Given the description of an element on the screen output the (x, y) to click on. 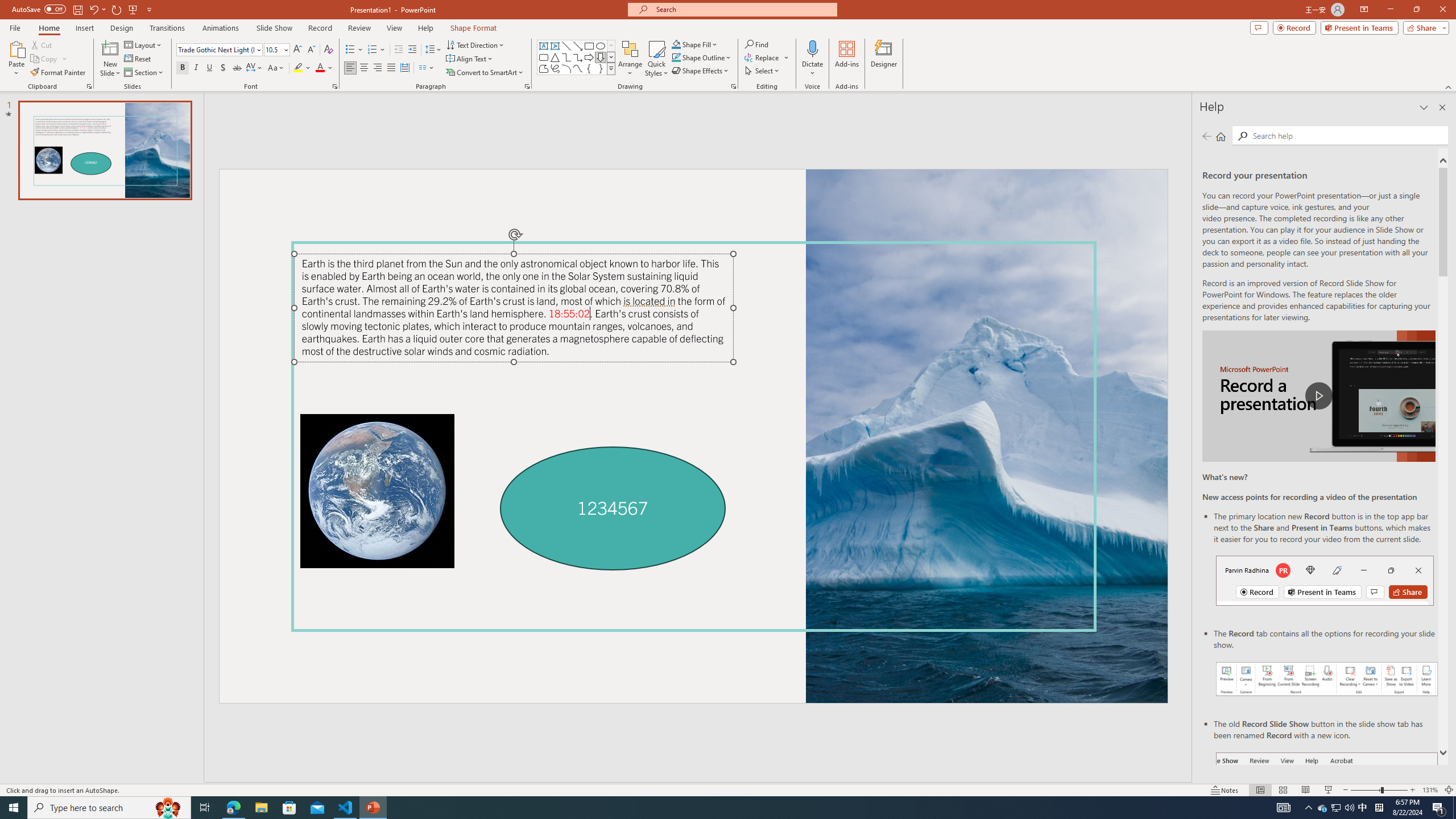
Format Object... (733, 85)
Dictate (812, 58)
Clear Formatting (327, 49)
Oval (600, 45)
Arc (566, 68)
Shape Outline (701, 56)
Row up (611, 45)
Bullets (354, 49)
Font Size (276, 49)
Text Box (543, 45)
